Given the description of an element on the screen output the (x, y) to click on. 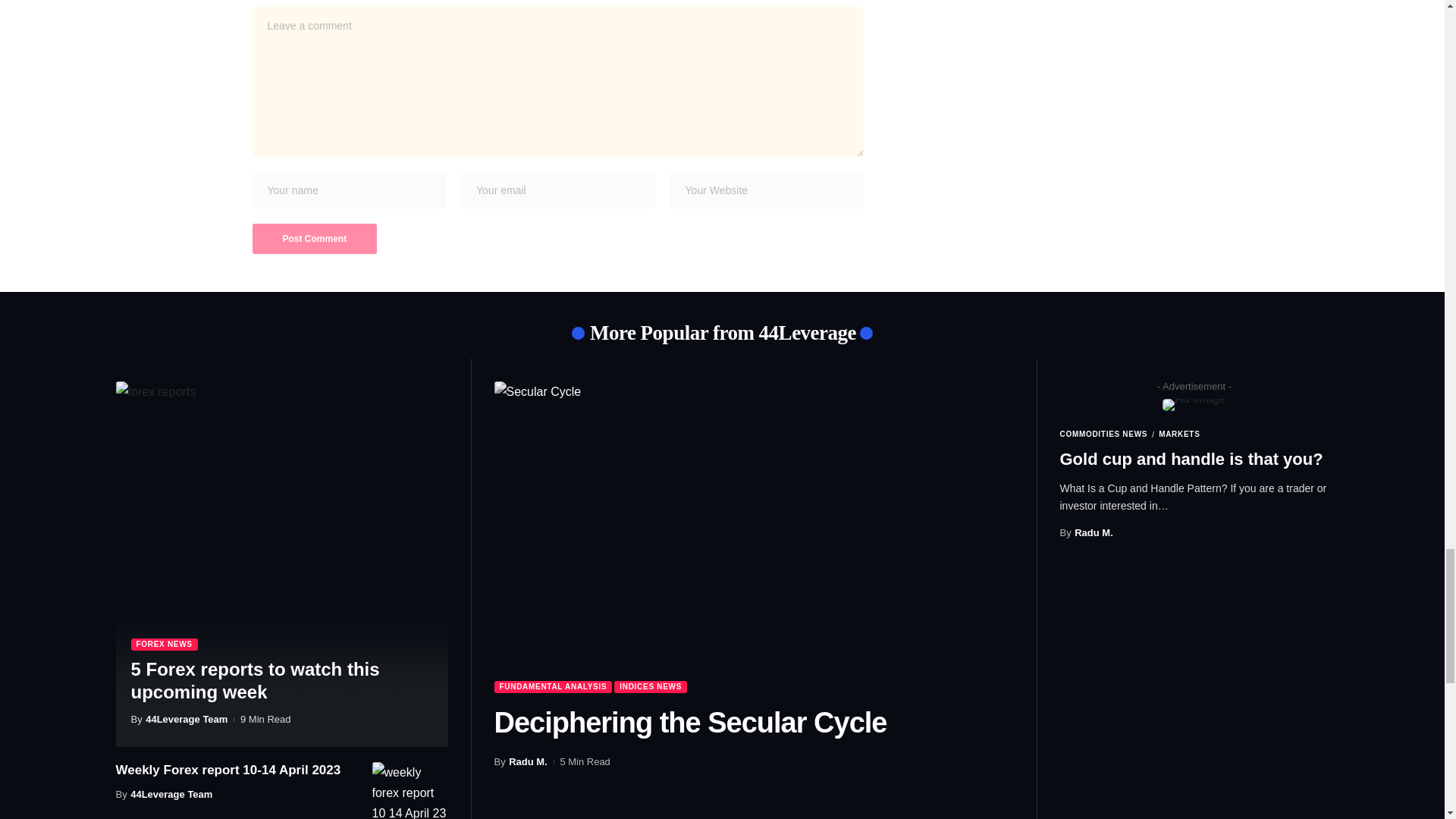
Post Comment (314, 238)
